Given the description of an element on the screen output the (x, y) to click on. 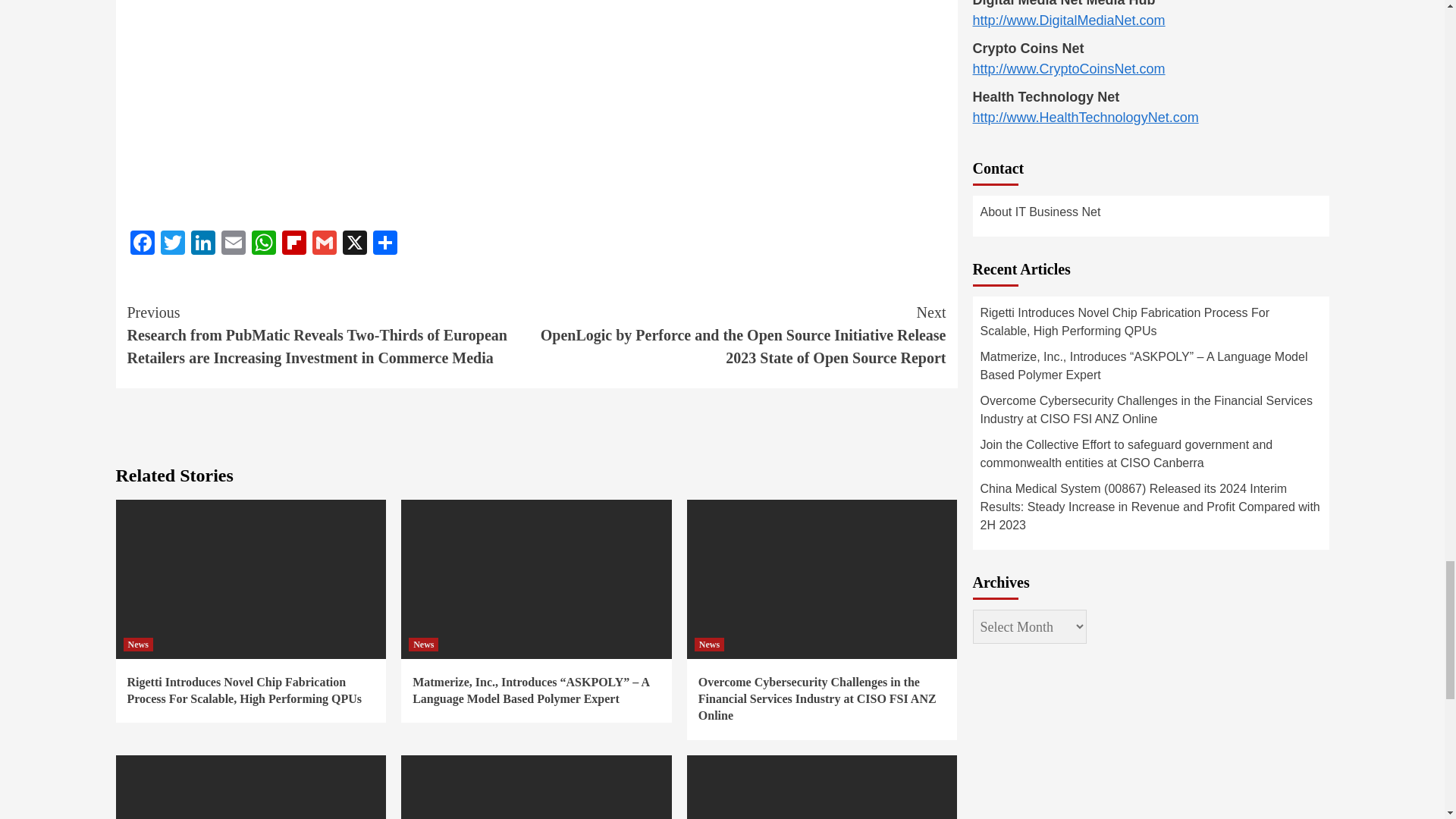
Share (384, 244)
Email (233, 244)
LinkedIn (202, 244)
Twitter (172, 244)
Gmail (323, 244)
X (354, 244)
WhatsApp (263, 244)
Twitter (172, 244)
News (137, 644)
